Given the description of an element on the screen output the (x, y) to click on. 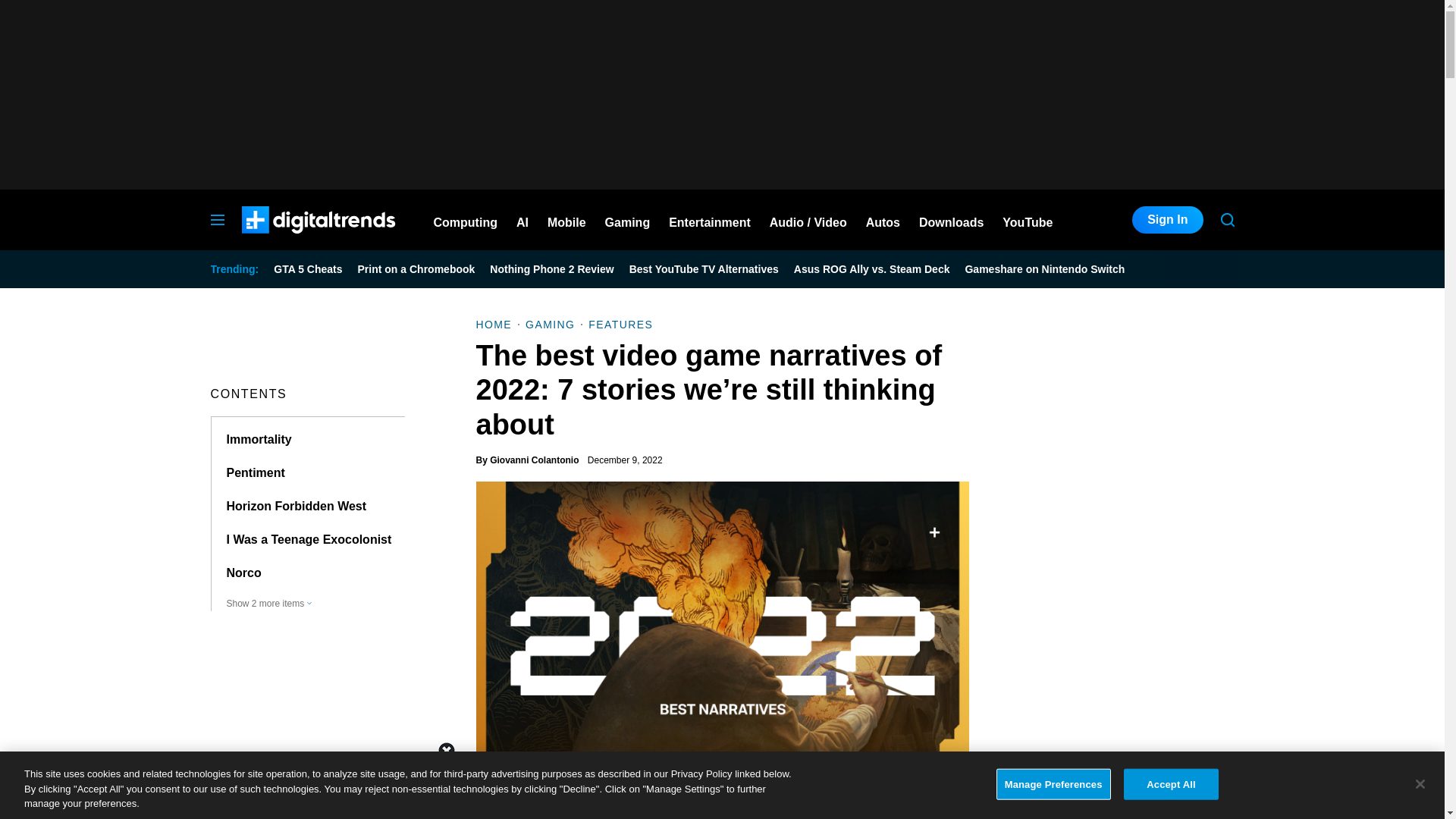
3rd party ad content (1120, 708)
3rd party ad content (721, 785)
Computing (465, 219)
Sign In (1167, 219)
3rd party ad content (721, 94)
Downloads (951, 219)
Entertainment (709, 219)
